Given the description of an element on the screen output the (x, y) to click on. 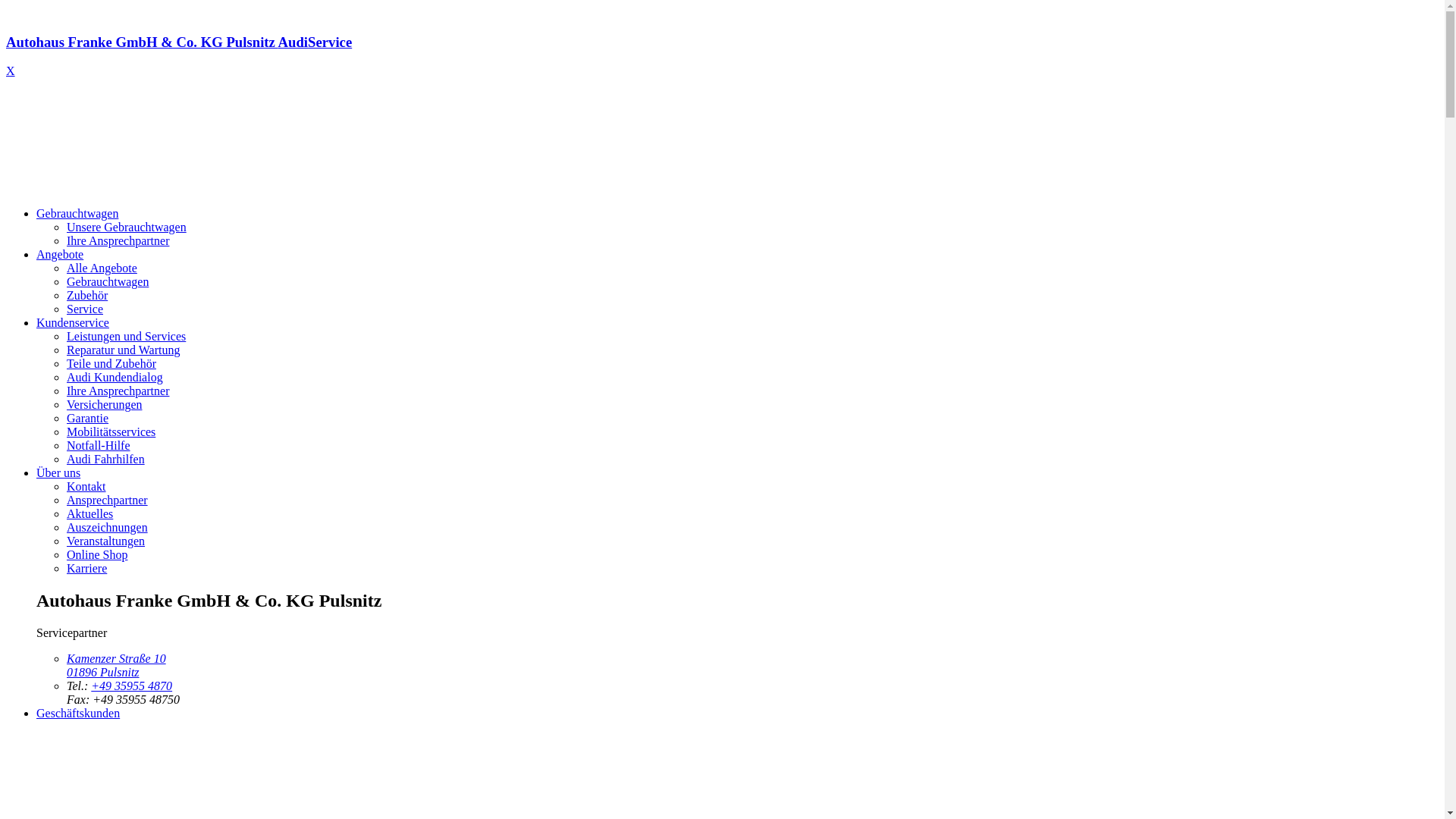
Kontakt Element type: text (86, 486)
Versicherungen Element type: text (104, 404)
Service Element type: text (84, 308)
Gebrauchtwagen Element type: text (77, 213)
Ihre Ansprechpartner Element type: text (117, 240)
Garantie Element type: text (87, 417)
Karriere Element type: text (86, 567)
Online Shop Element type: text (96, 554)
Autohaus Franke GmbH & Co. KG Pulsnitz AudiService Element type: text (722, 56)
Kundenservice Element type: text (72, 322)
Ihre Ansprechpartner Element type: text (117, 390)
+49 35955 4870 Element type: text (131, 685)
X Element type: text (10, 70)
Audi Kundendialog Element type: text (114, 376)
Leistungen und Services Element type: text (125, 335)
Reparatur und Wartung Element type: text (122, 349)
Ansprechpartner Element type: text (106, 499)
Gebrauchtwagen Element type: text (107, 281)
Angebote Element type: text (59, 253)
Auszeichnungen Element type: text (106, 526)
Veranstaltungen Element type: text (105, 540)
Alle Angebote Element type: text (101, 267)
Audi Fahrhilfen Element type: text (105, 458)
Unsere Gebrauchtwagen Element type: text (126, 226)
Aktuelles Element type: text (89, 513)
Notfall-Hilfe Element type: text (98, 445)
